Given the description of an element on the screen output the (x, y) to click on. 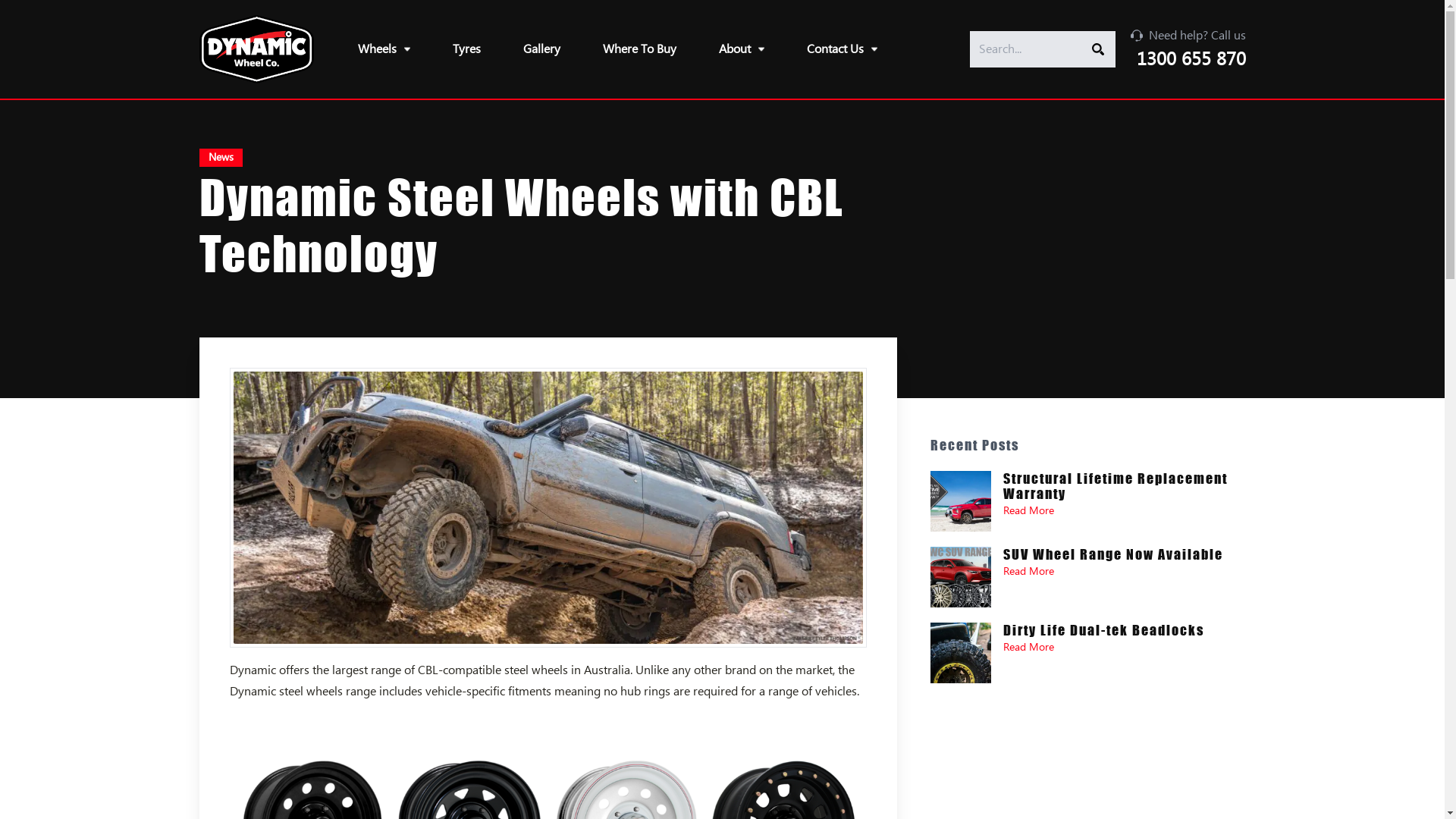
Tyres Element type: text (466, 49)
Where To Buy Element type: text (639, 49)
Read More Element type: text (1027, 510)
Wheels Element type: text (383, 49)
Contact Us Element type: text (841, 49)
News Element type: text (219, 157)
About Element type: text (741, 49)
Gallery Element type: text (541, 49)
Read More Element type: text (1027, 647)
Read More Element type: text (1027, 571)
1300 655 870 Element type: text (1190, 59)
